Given the description of an element on the screen output the (x, y) to click on. 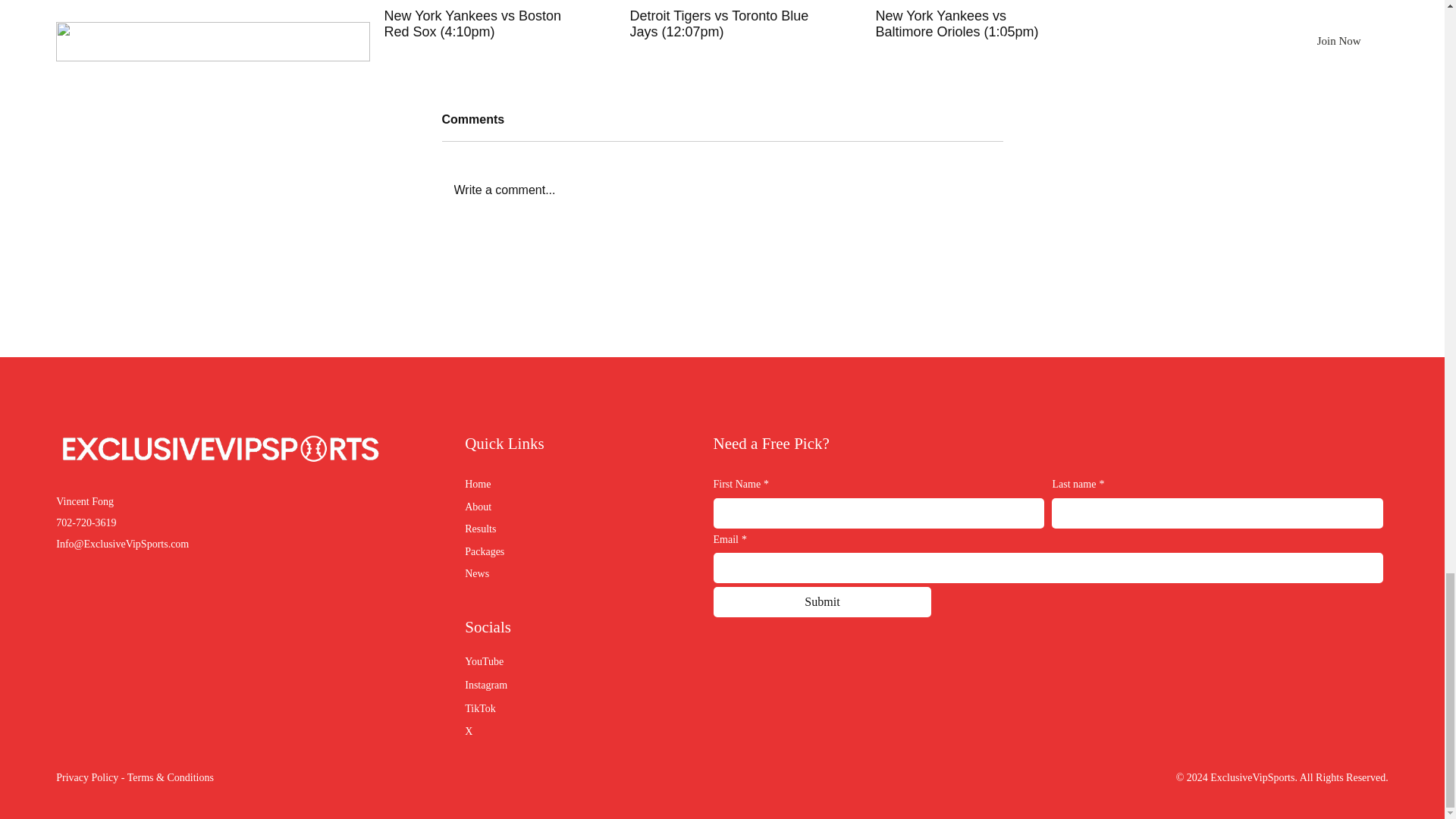
Results (541, 528)
TikTok (480, 708)
Instagram (485, 685)
Privacy Policy (86, 777)
About (541, 507)
Write a comment... (722, 189)
News (541, 573)
YouTube (483, 661)
Home (541, 484)
Packages (541, 551)
Submit (822, 602)
